Given the description of an element on the screen output the (x, y) to click on. 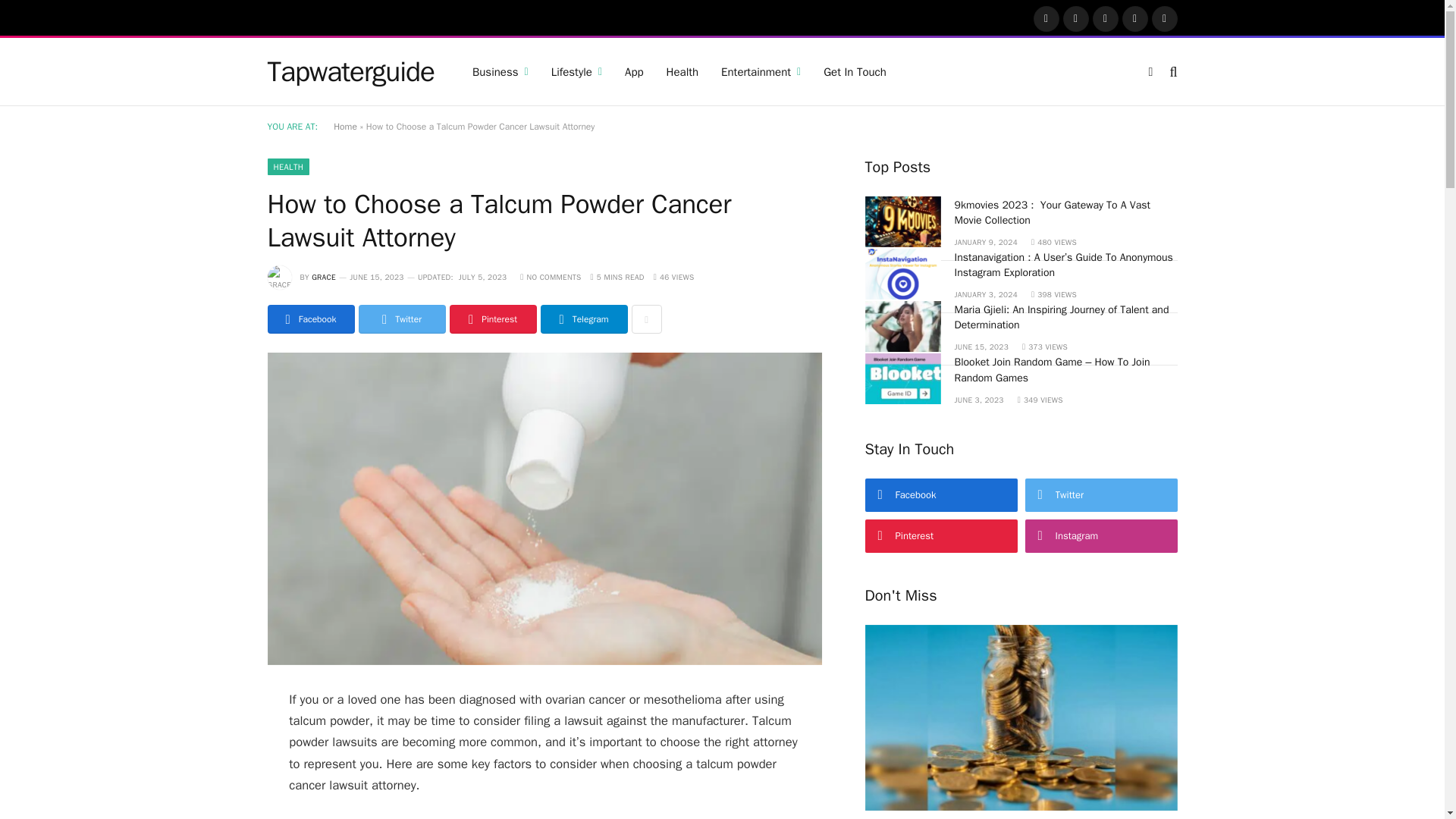
Entertainment (761, 71)
Get In Touch (855, 71)
Vimeo (1164, 18)
Business (500, 71)
Switch to Dark Design - easier on eyes. (1150, 70)
Tapwaterguide (349, 71)
Instagram (1105, 18)
tapwaterguide (349, 71)
46 Article Views (673, 276)
Lifestyle (576, 71)
Share on Facebook (309, 318)
Facebook (1046, 18)
Share on Telegram (583, 318)
Posts by Grace (323, 276)
Pinterest (1135, 18)
